Given the description of an element on the screen output the (x, y) to click on. 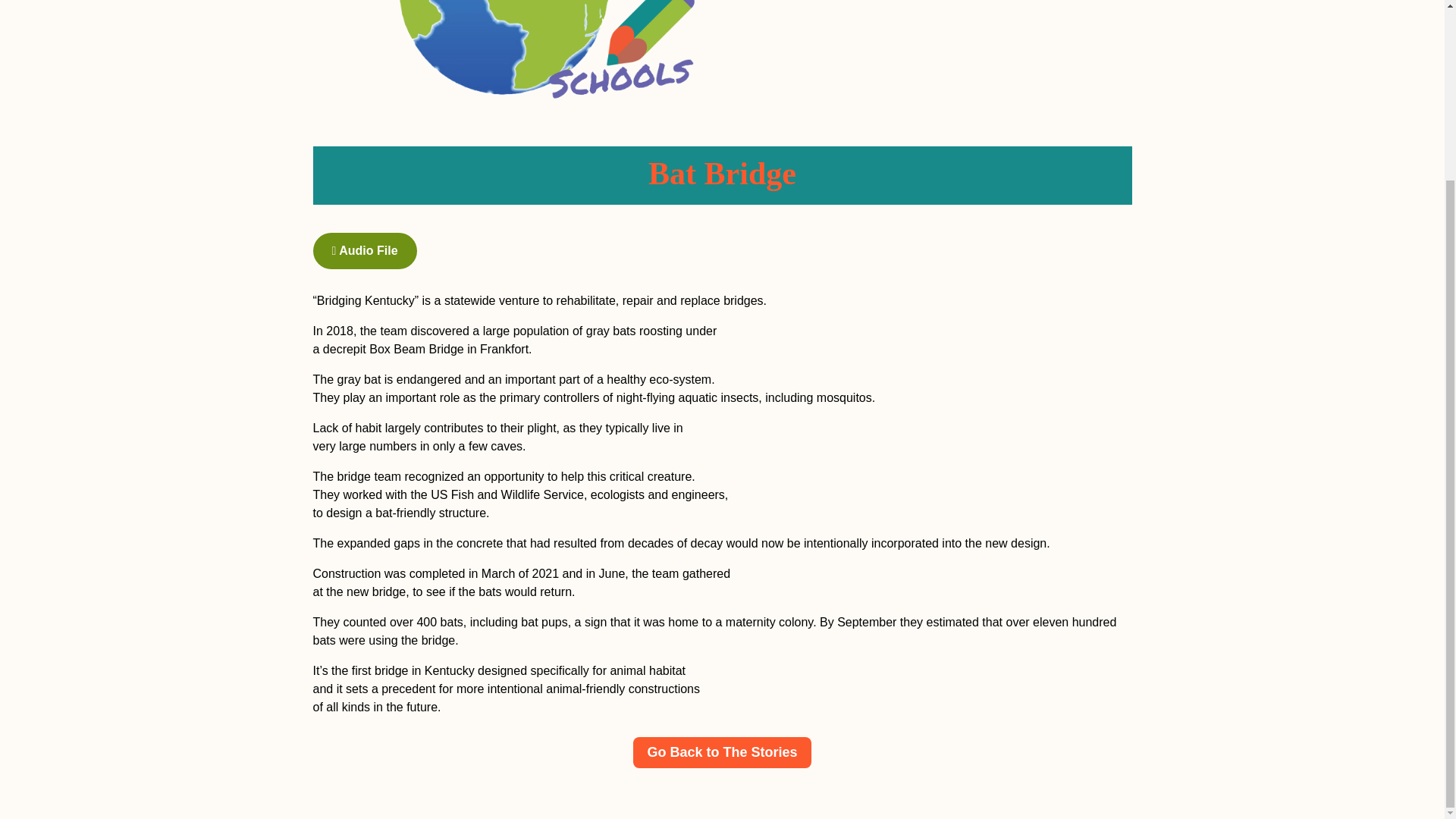
Audio File (364, 250)
Audio File (364, 250)
Go Back to The Stories (721, 752)
